Given the description of an element on the screen output the (x, y) to click on. 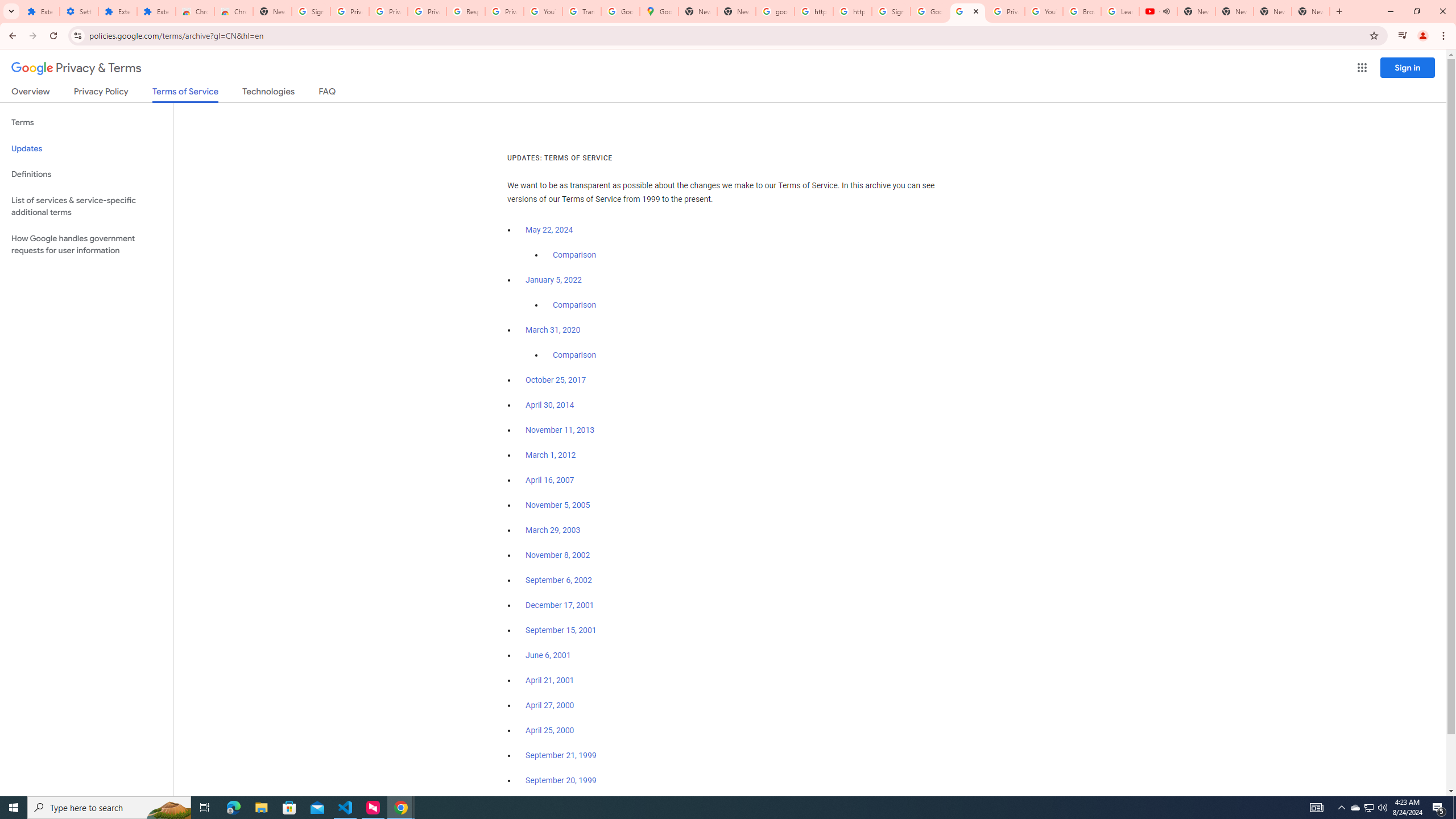
YouTube (542, 11)
September 20, 1999 (560, 780)
Mute tab (1165, 10)
How Google handles government requests for user information (86, 244)
March 31, 2020 (552, 330)
March 29, 2003 (552, 530)
Comparison (574, 355)
June 6, 2001 (547, 655)
